Given the description of an element on the screen output the (x, y) to click on. 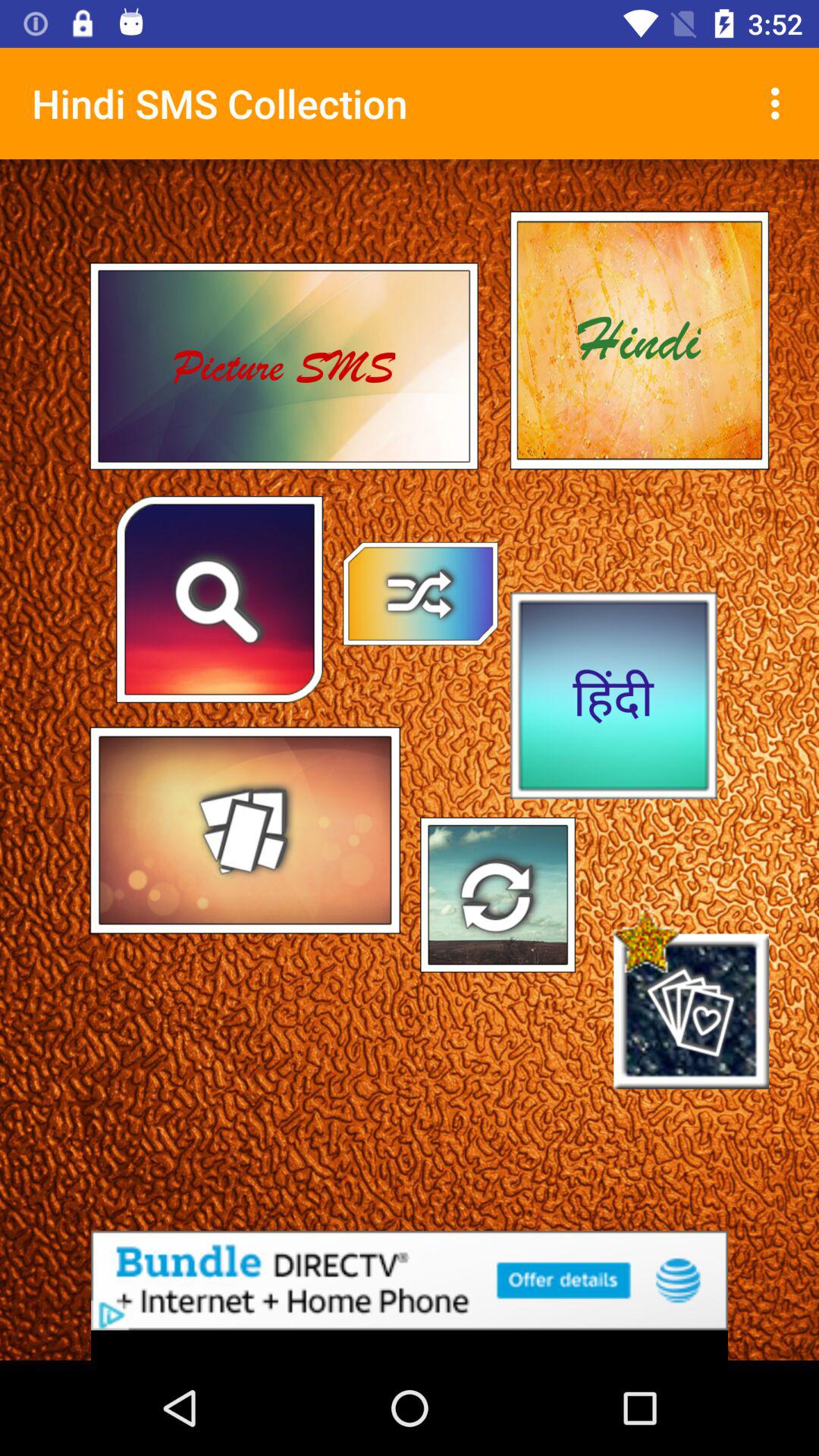
advertisement (409, 1280)
